Given the description of an element on the screen output the (x, y) to click on. 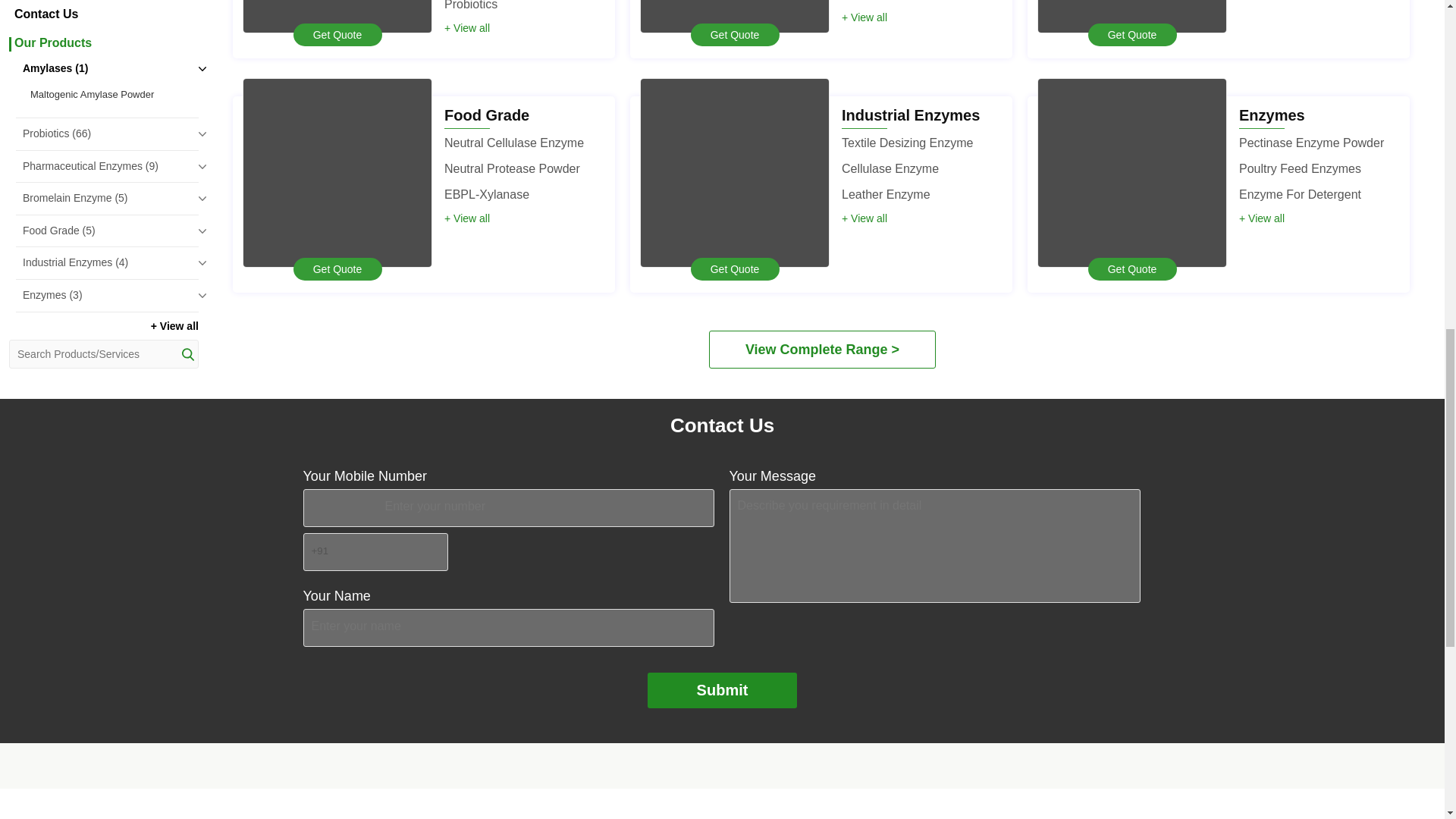
Submit (722, 690)
